Given the description of an element on the screen output the (x, y) to click on. 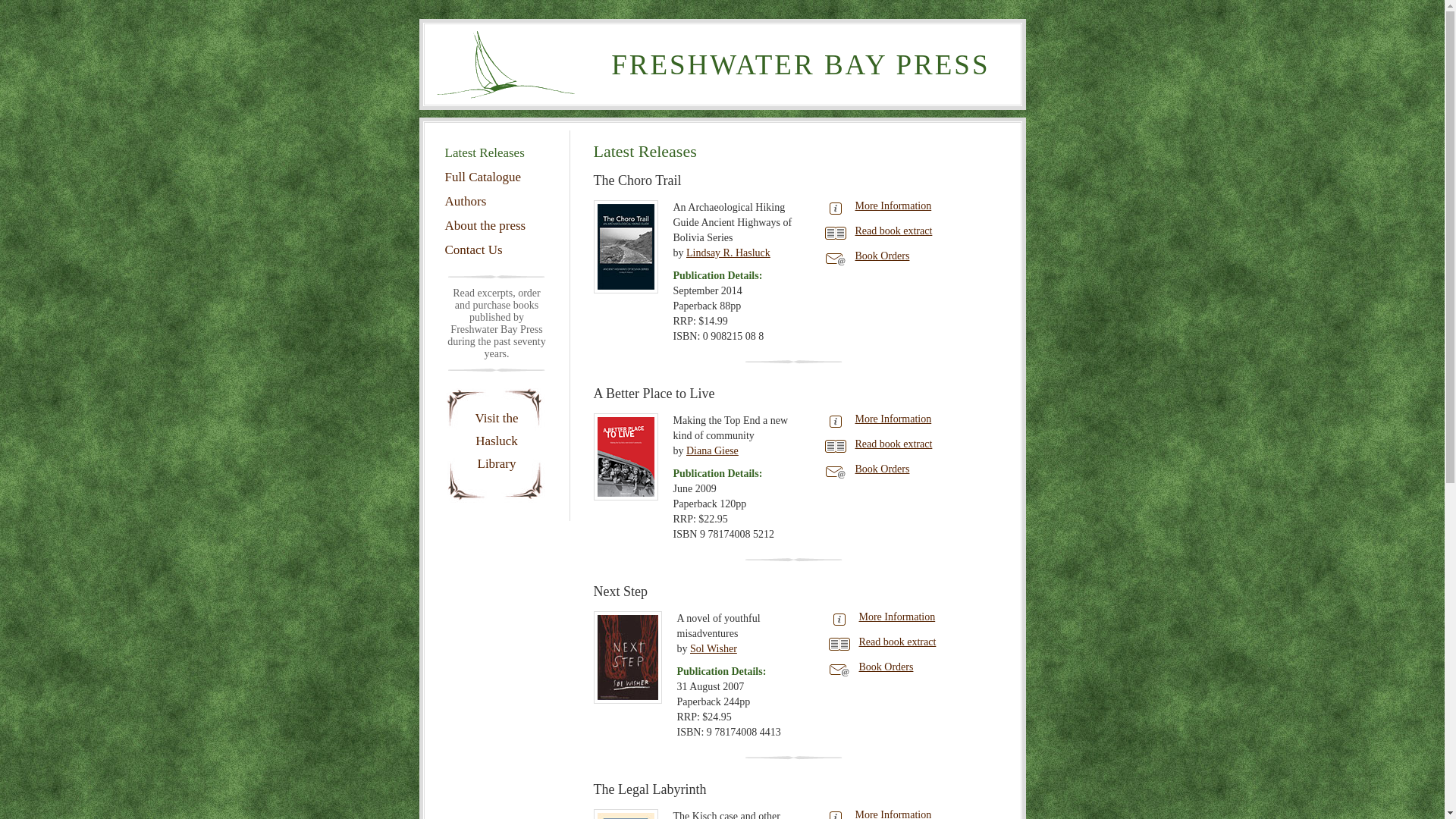
Read book extract Element type: text (893, 230)
Latest Releases Element type: text (484, 152)
Book Orders Element type: text (882, 255)
Contact Us Element type: text (473, 249)
Diana Giese Element type: text (712, 450)
Authors Element type: text (465, 201)
Book Orders Element type: text (882, 468)
Book Orders Element type: text (885, 666)
More Information Element type: text (896, 616)
More Information Element type: text (893, 205)
Lindsay R. Hasluck Element type: text (728, 252)
Full Catalogue Element type: text (482, 176)
Read book extract Element type: text (896, 641)
Sol Wisher Element type: text (713, 648)
Read book extract Element type: text (893, 443)
More Information Element type: text (893, 418)
Visit the Hasluck Library Element type: text (495, 440)
About the press Element type: text (484, 225)
